Given the description of an element on the screen output the (x, y) to click on. 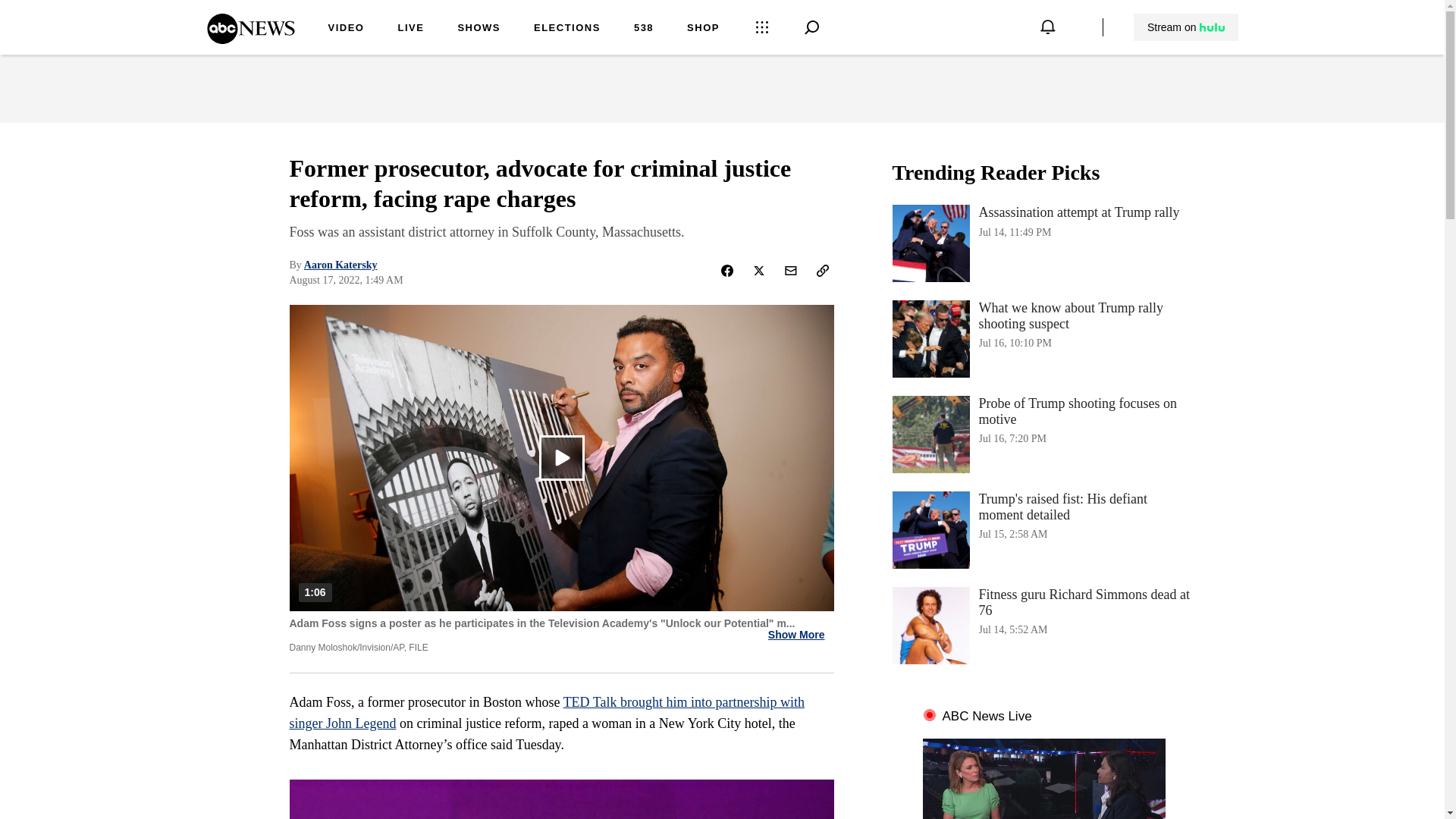
Stream on (1186, 26)
VIDEO (345, 28)
SHOP (703, 28)
Aaron Katersky (340, 265)
Show More (796, 634)
Stream on (1185, 27)
ELECTIONS (566, 28)
538 (643, 28)
ABC News (250, 38)
LIVE (410, 28)
SHOWS (478, 28)
